Given the description of an element on the screen output the (x, y) to click on. 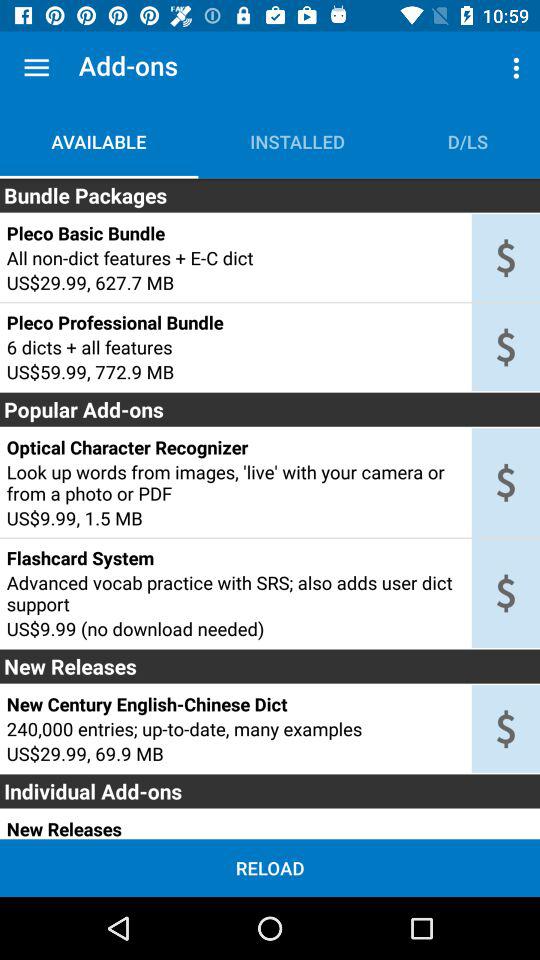
click new century english item (235, 703)
